Given the description of an element on the screen output the (x, y) to click on. 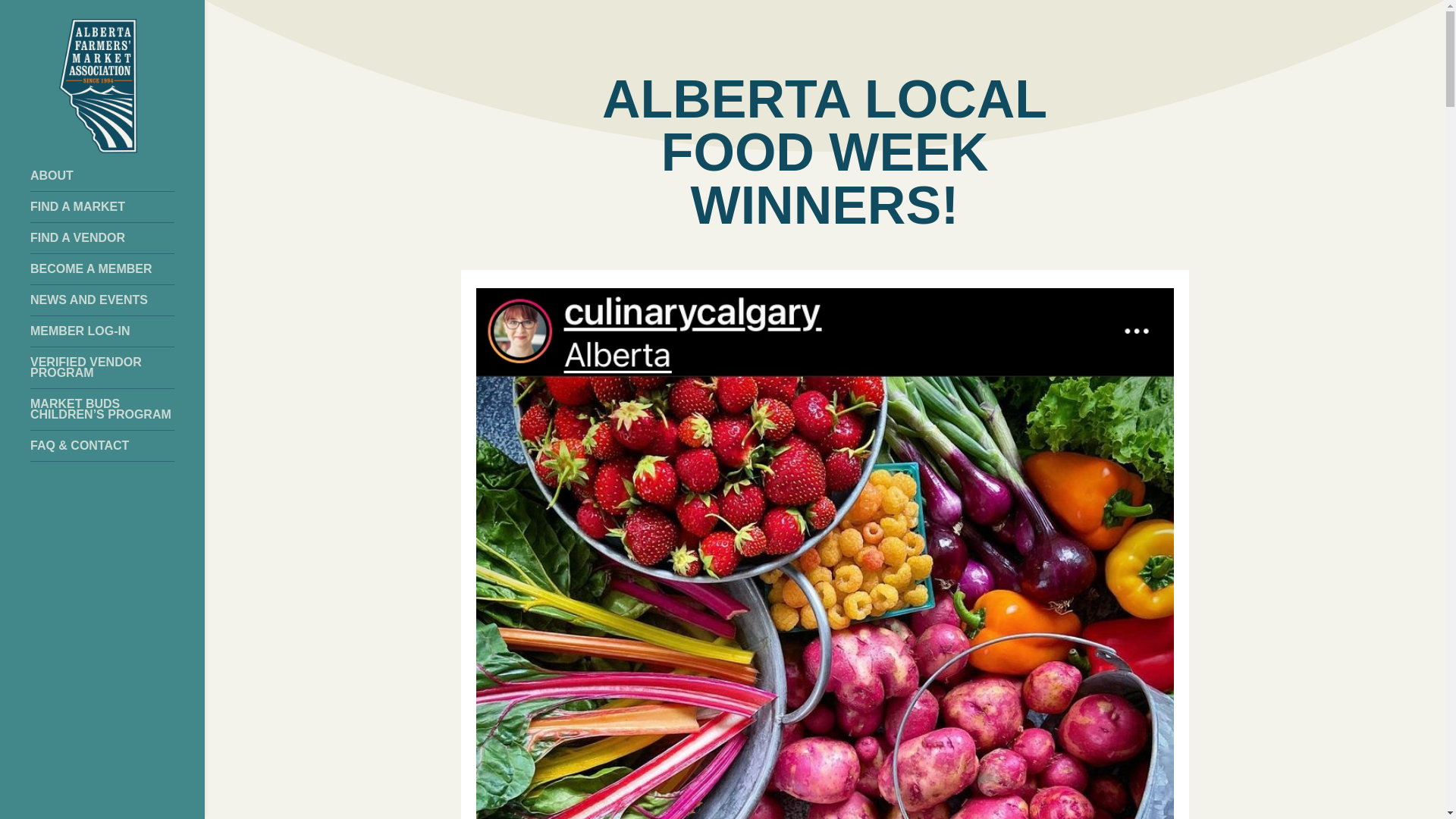
VERIFIED VENDOR PROGRAM (117, 367)
FIND A VENDOR (117, 238)
MEMBER LOG-IN (117, 331)
BECOME A MEMBER (117, 269)
NEWS AND EVENTS (117, 300)
ABOUT (117, 176)
FIND A MARKET (117, 207)
